Given the description of an element on the screen output the (x, y) to click on. 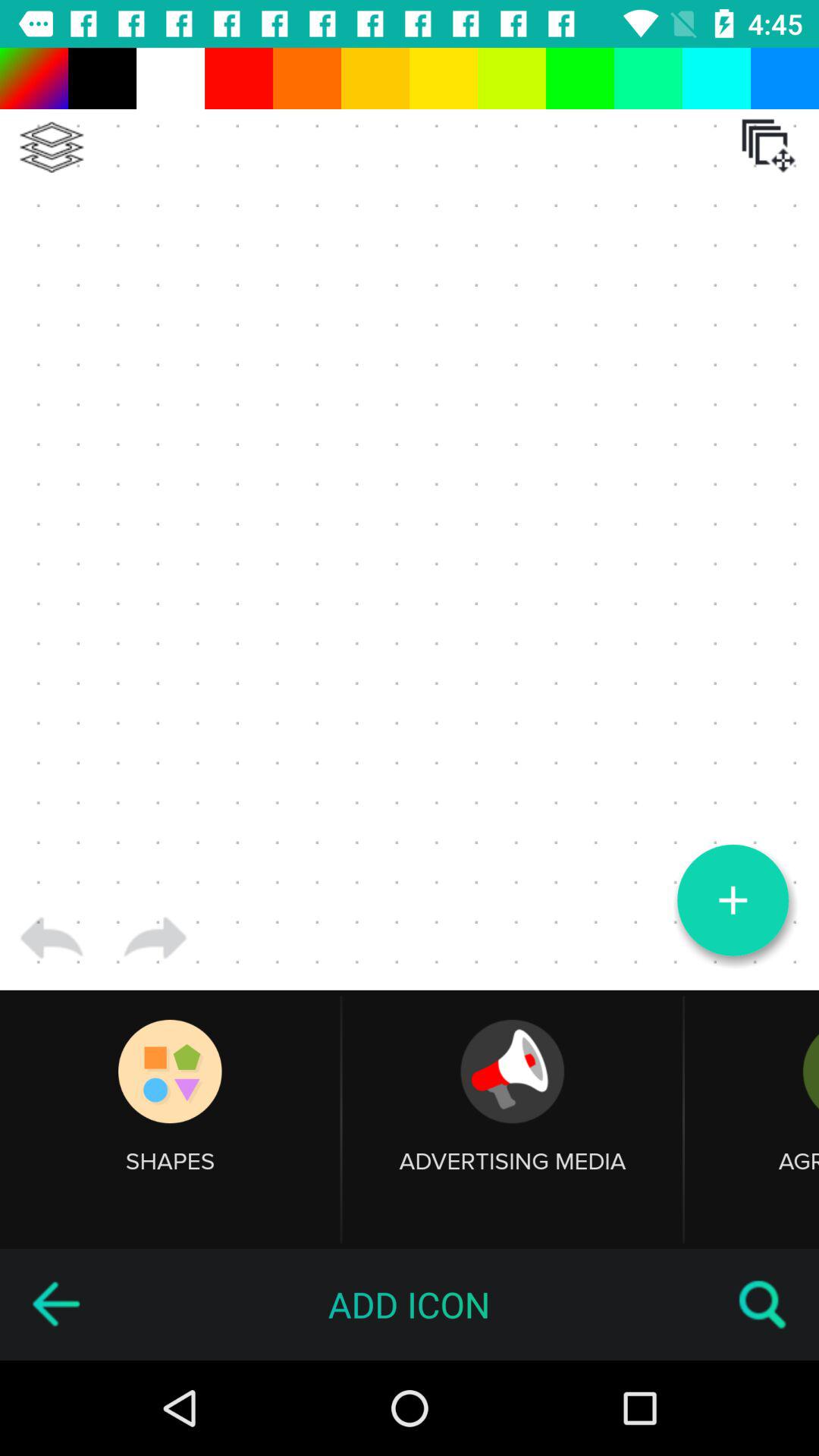
turn on item next to the add icon icon (55, 1304)
